Given the description of an element on the screen output the (x, y) to click on. 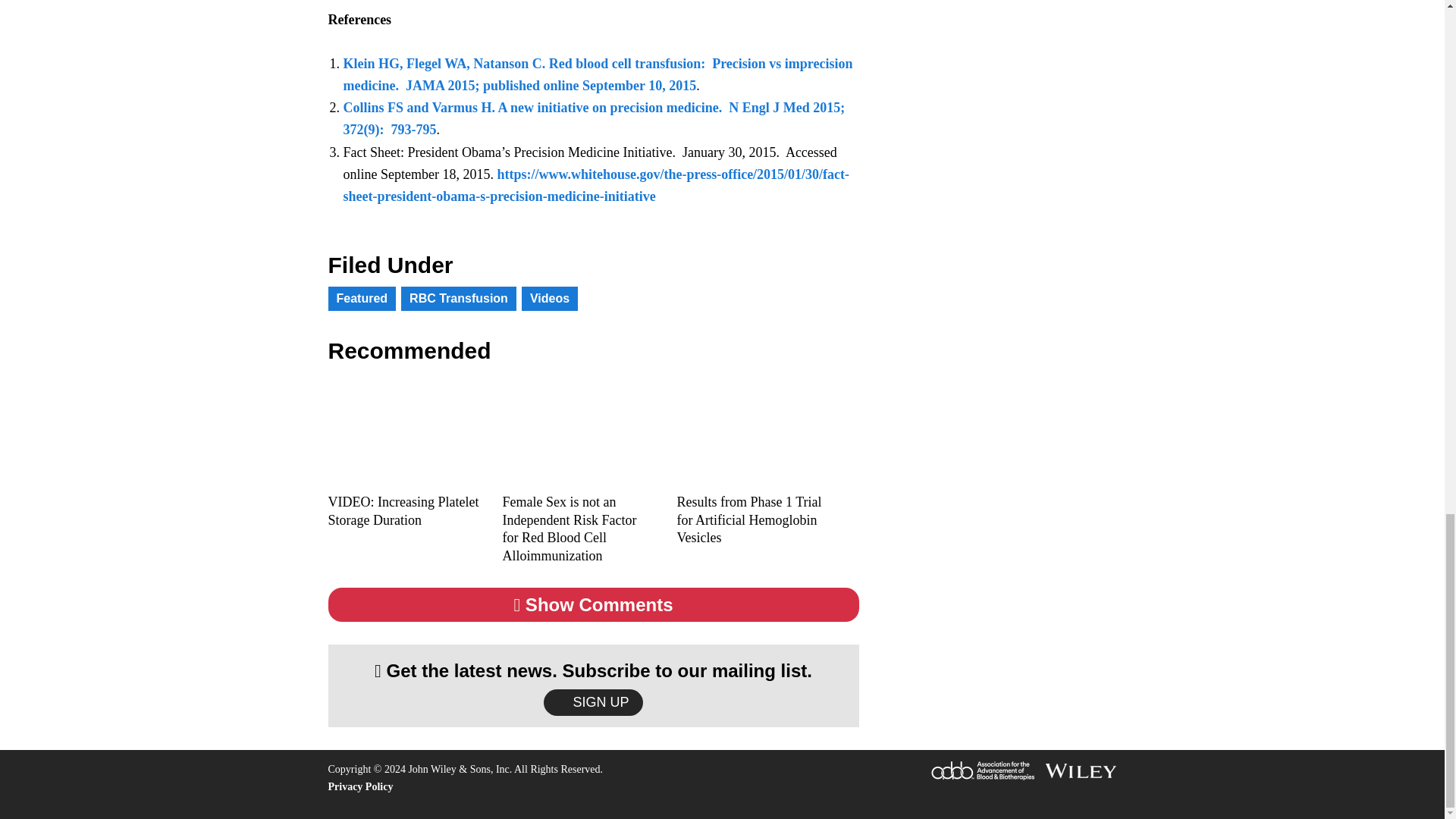
Featured (361, 298)
Videos (549, 298)
VIDEO: Increasing Platelet Storage Duration (403, 511)
RBC Transfusion (458, 298)
